Given the description of an element on the screen output the (x, y) to click on. 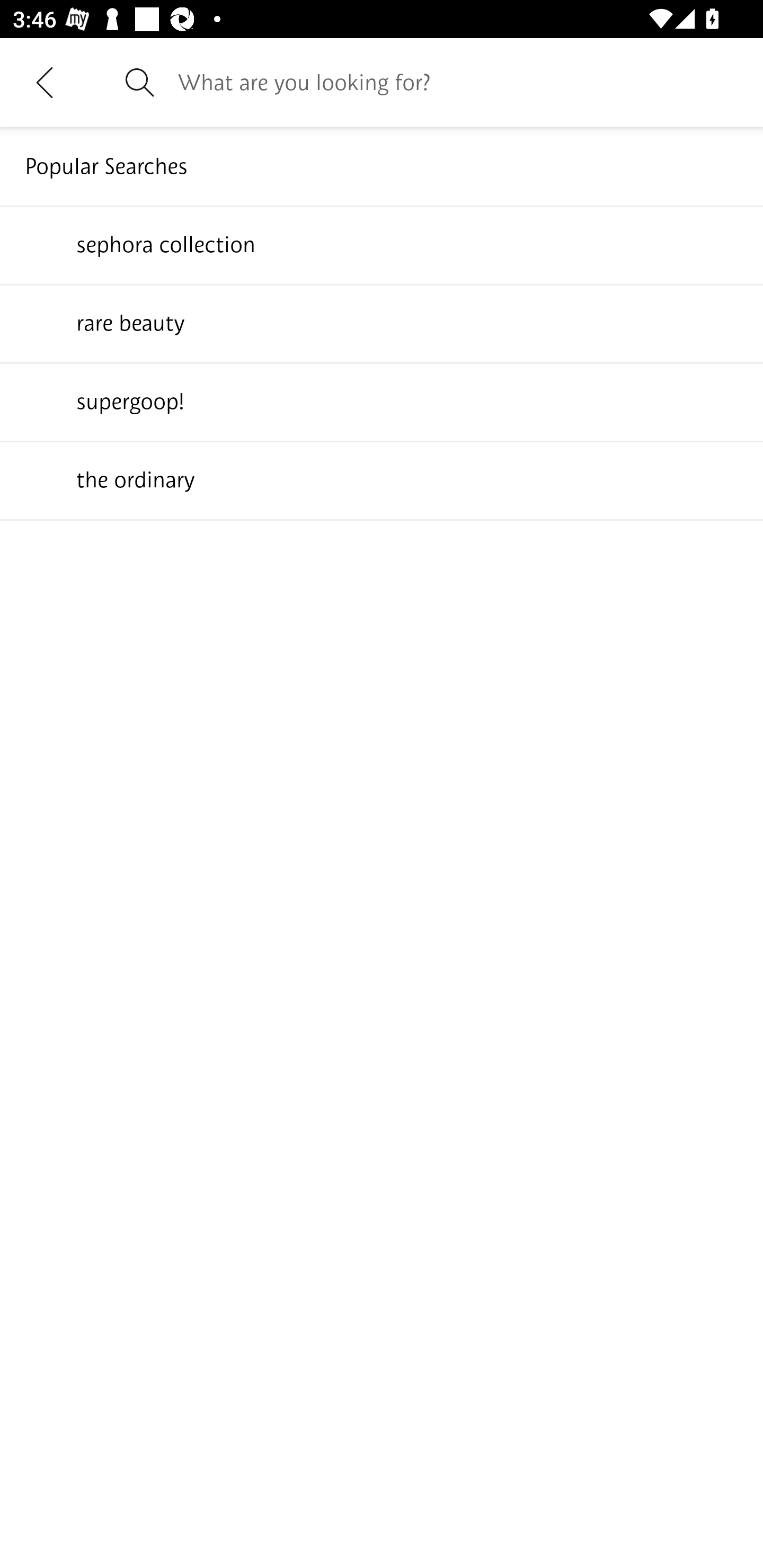
Navigate up (44, 82)
What are you looking for? (457, 82)
sephora collection (381, 244)
rare beauty (381, 322)
supergoop! (381, 401)
the ordinary (381, 479)
